Given the description of an element on the screen output the (x, y) to click on. 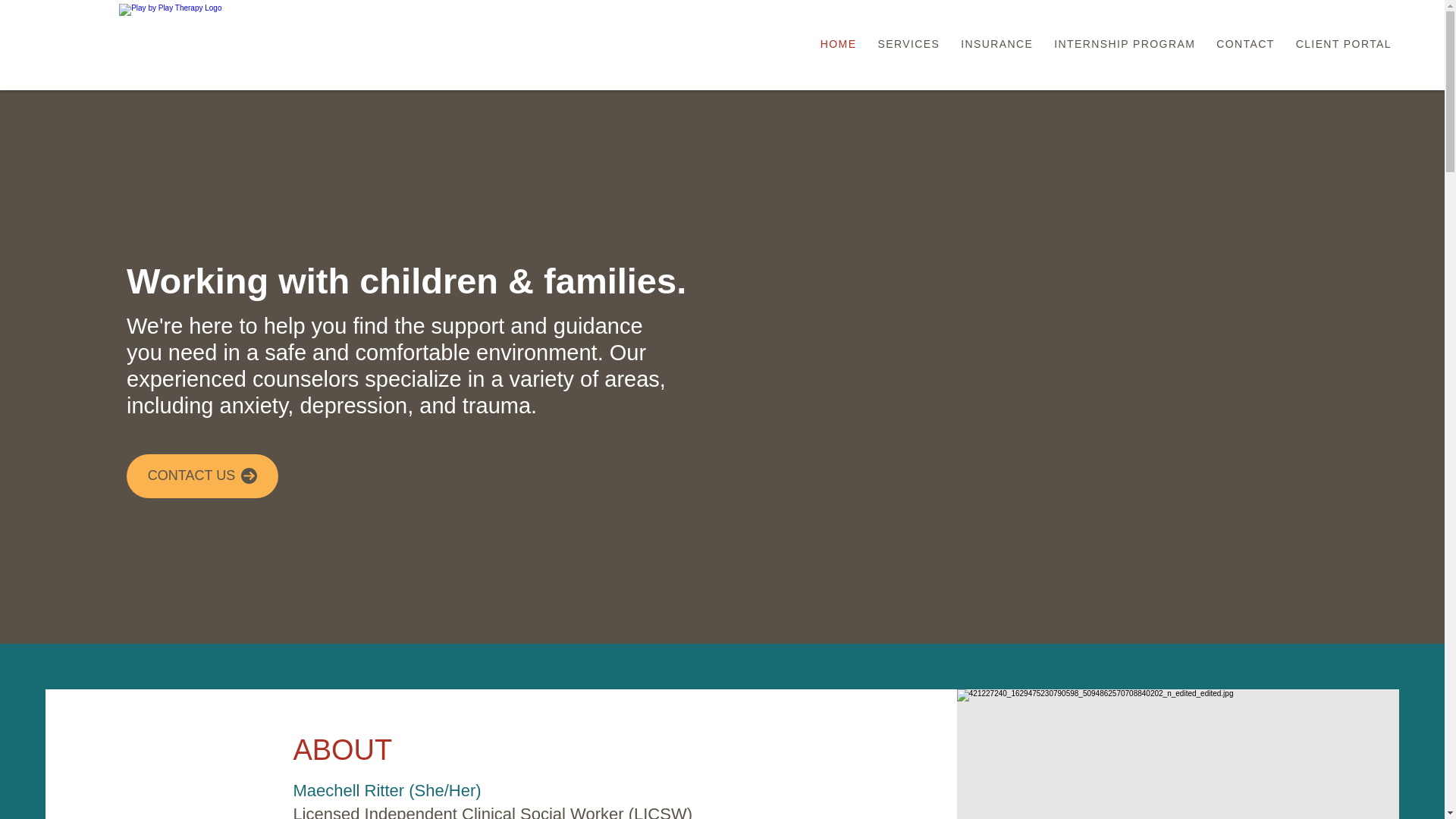
HOME (838, 44)
INSURANCE (997, 44)
Logo2.png (221, 41)
CONTACT (1244, 44)
INTERNSHIP PROGRAM (1124, 44)
CLIENT PORTAL (1343, 44)
CONTACT US (202, 475)
